Given the description of an element on the screen output the (x, y) to click on. 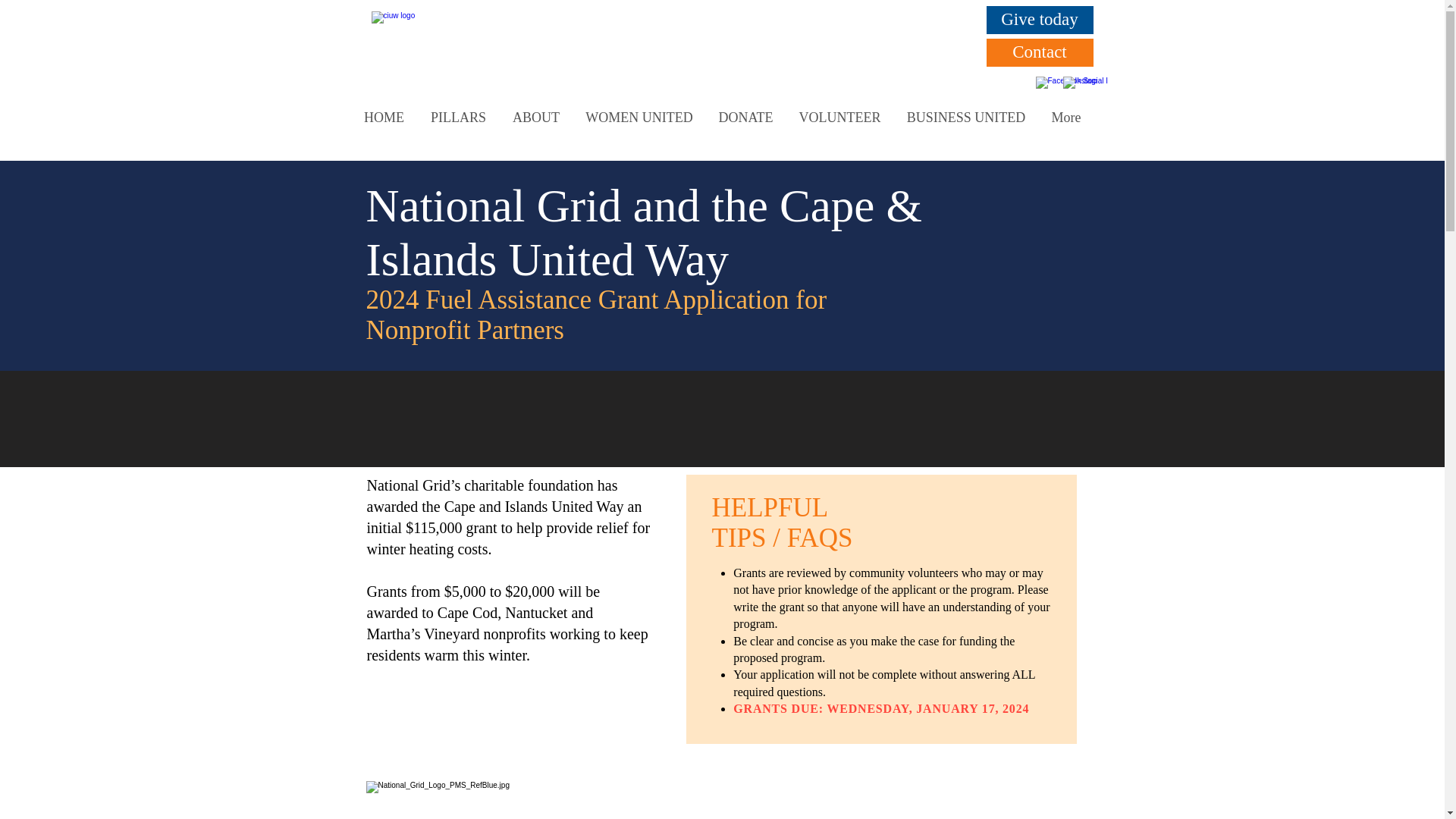
VOLUNTEER (839, 117)
PILLARS (457, 117)
HOME (383, 117)
Contact (1039, 52)
ABOUT (535, 117)
DONATE (745, 117)
WOMEN UNITED (639, 117)
BUSINESS UNITED (965, 117)
Give today (1039, 19)
